Given the description of an element on the screen output the (x, y) to click on. 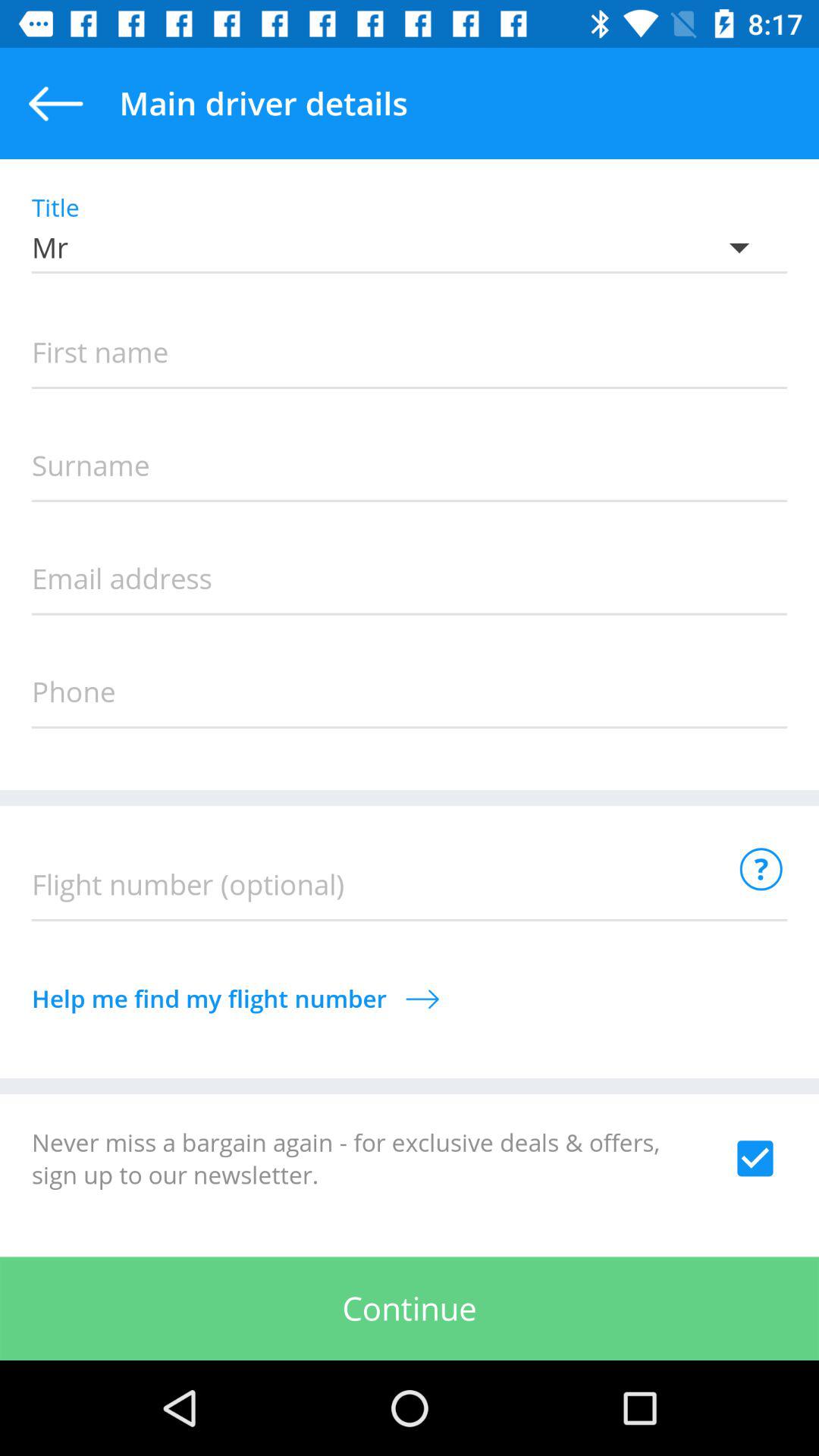
tick option (755, 1158)
